Given the description of an element on the screen output the (x, y) to click on. 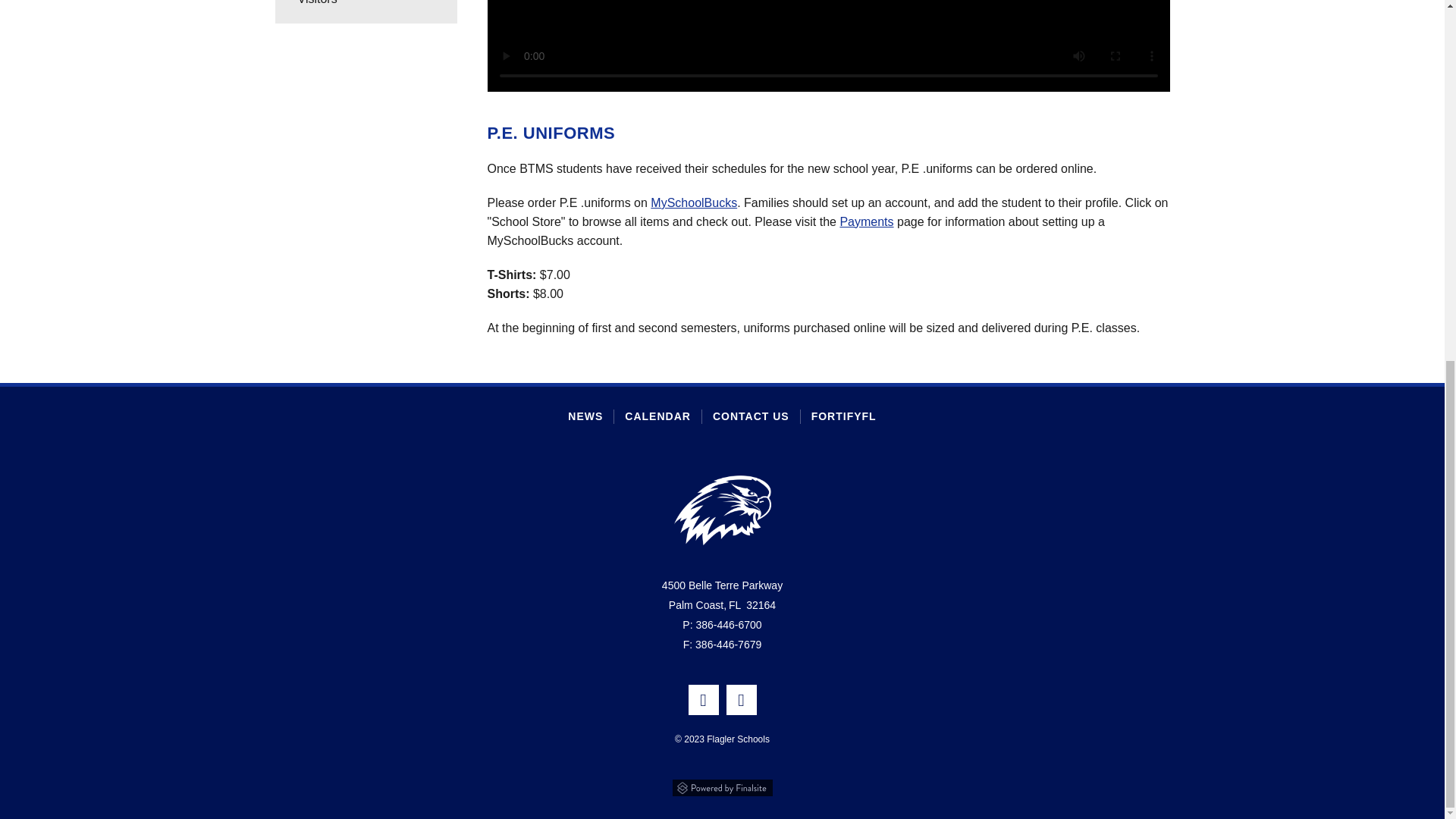
Powered by Finalsite opens in a new window (722, 785)
Payments (866, 221)
MySchoolBucks (693, 202)
